Given the description of an element on the screen output the (x, y) to click on. 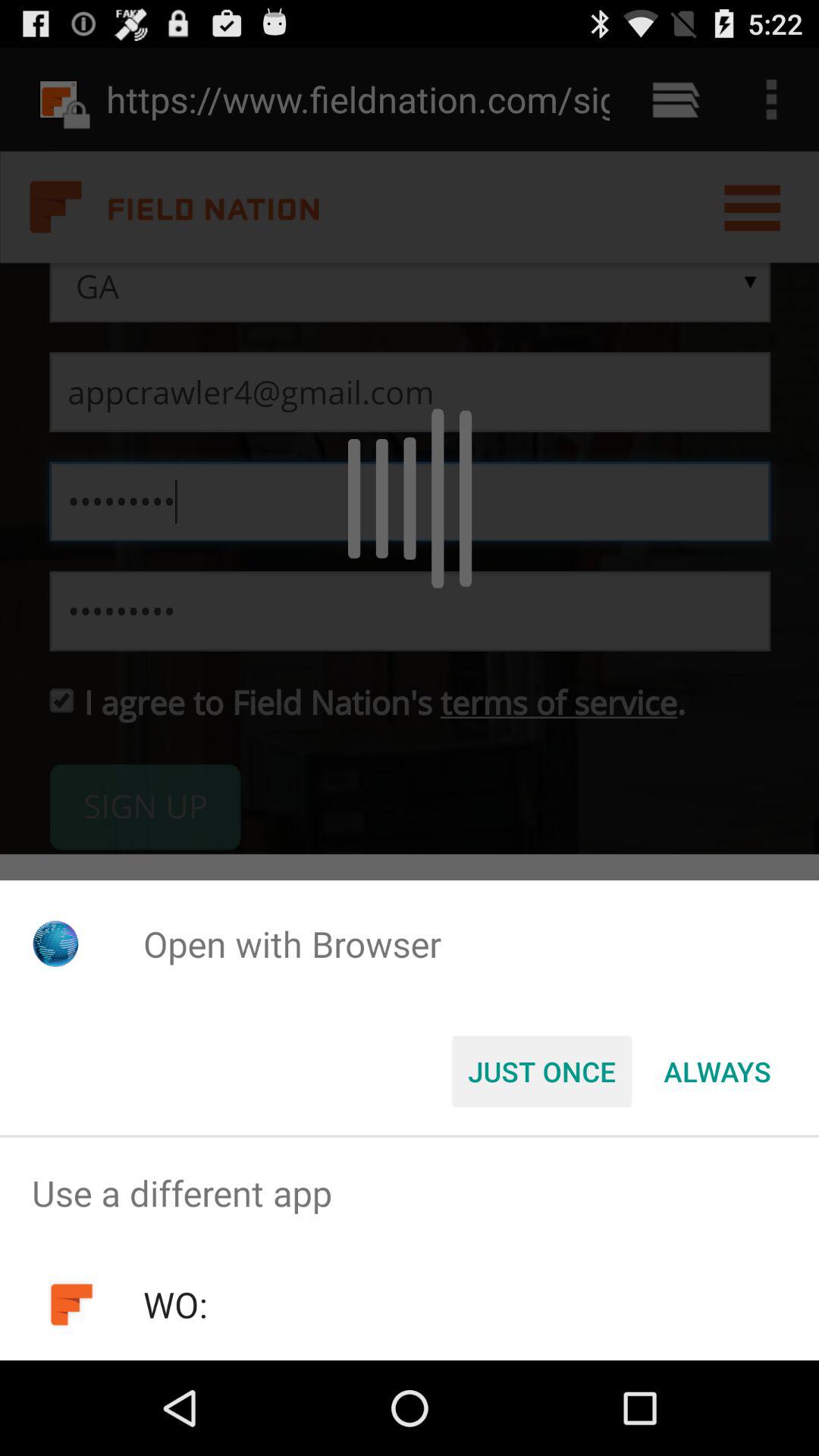
jump until the just once button (541, 1071)
